Given the description of an element on the screen output the (x, y) to click on. 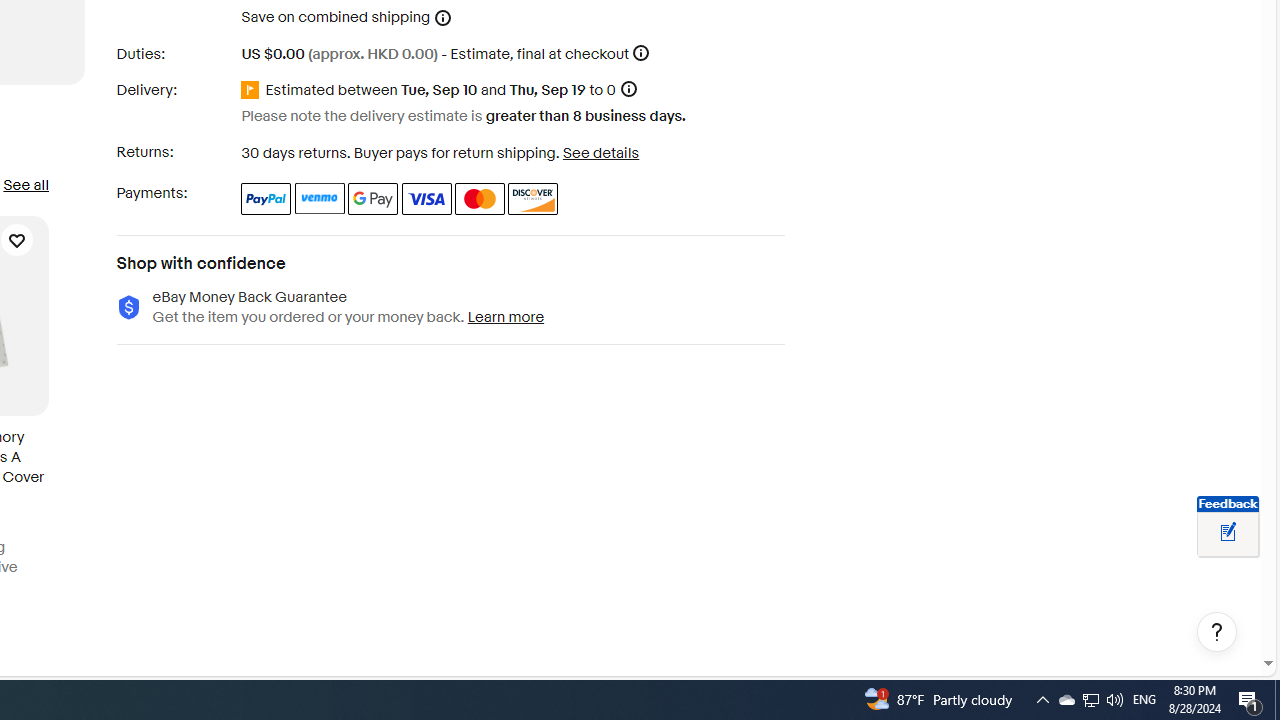
See details - for more information about returns (600, 152)
PayPal (265, 198)
